Given the description of an element on the screen output the (x, y) to click on. 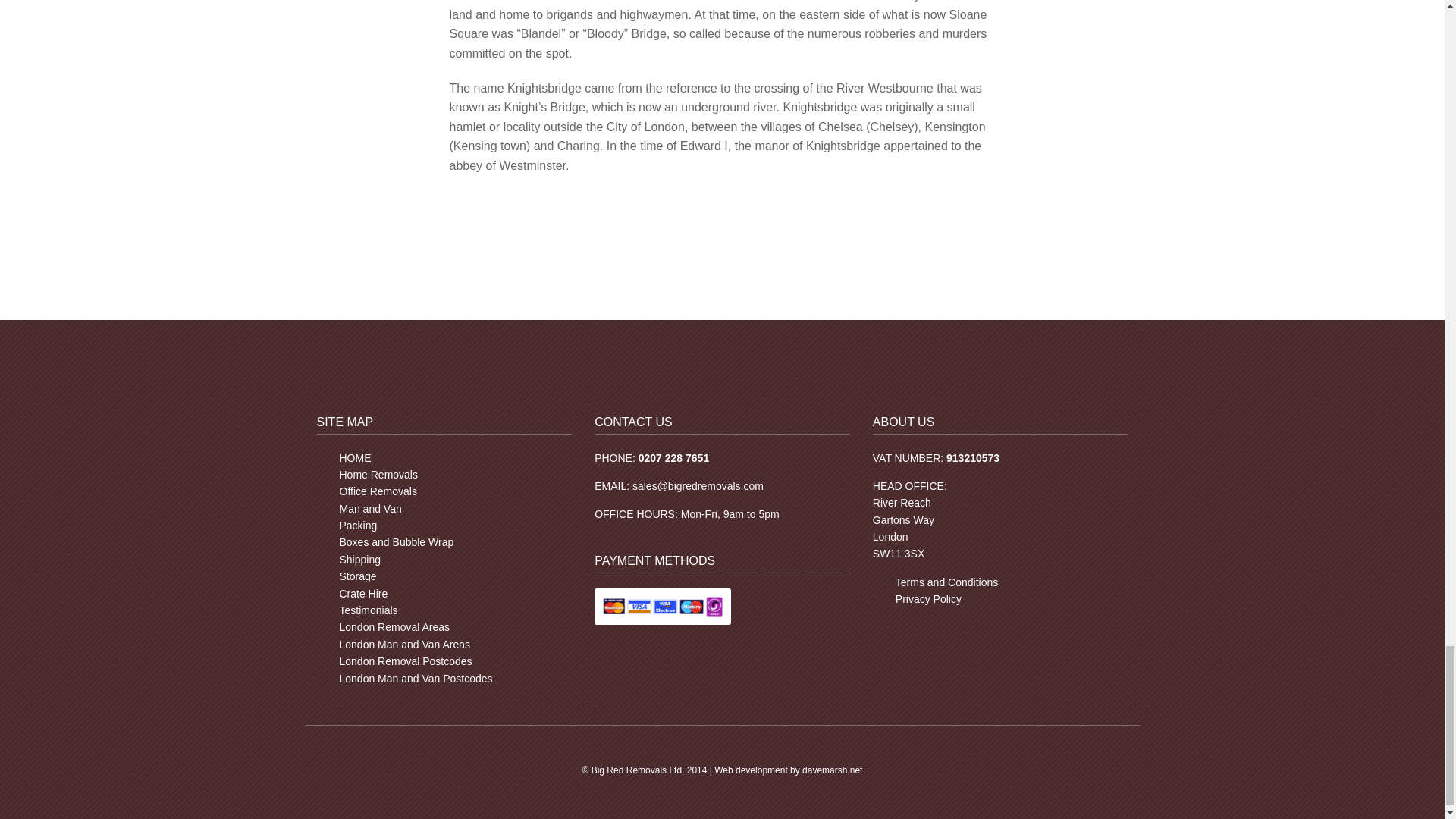
Boxes and Bubble Wrap (396, 541)
Man and Van (370, 508)
Office Removals (377, 491)
Packing (358, 525)
Shipping (360, 559)
Storage (358, 576)
Home Removals (378, 474)
HOME (355, 458)
